Given the description of an element on the screen output the (x, y) to click on. 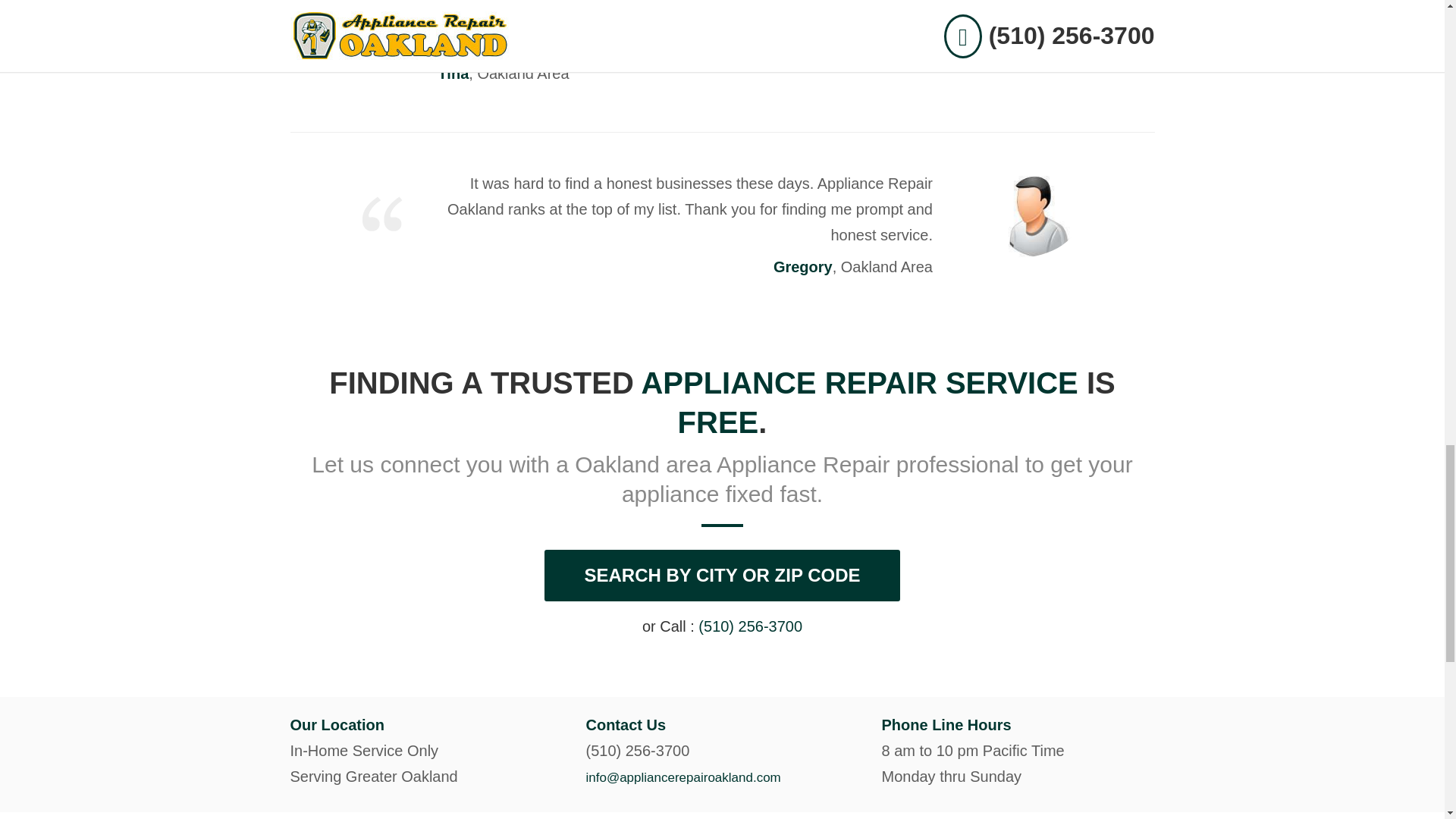
SEARCH BY CITY OR ZIP CODE (721, 575)
